Given the description of an element on the screen output the (x, y) to click on. 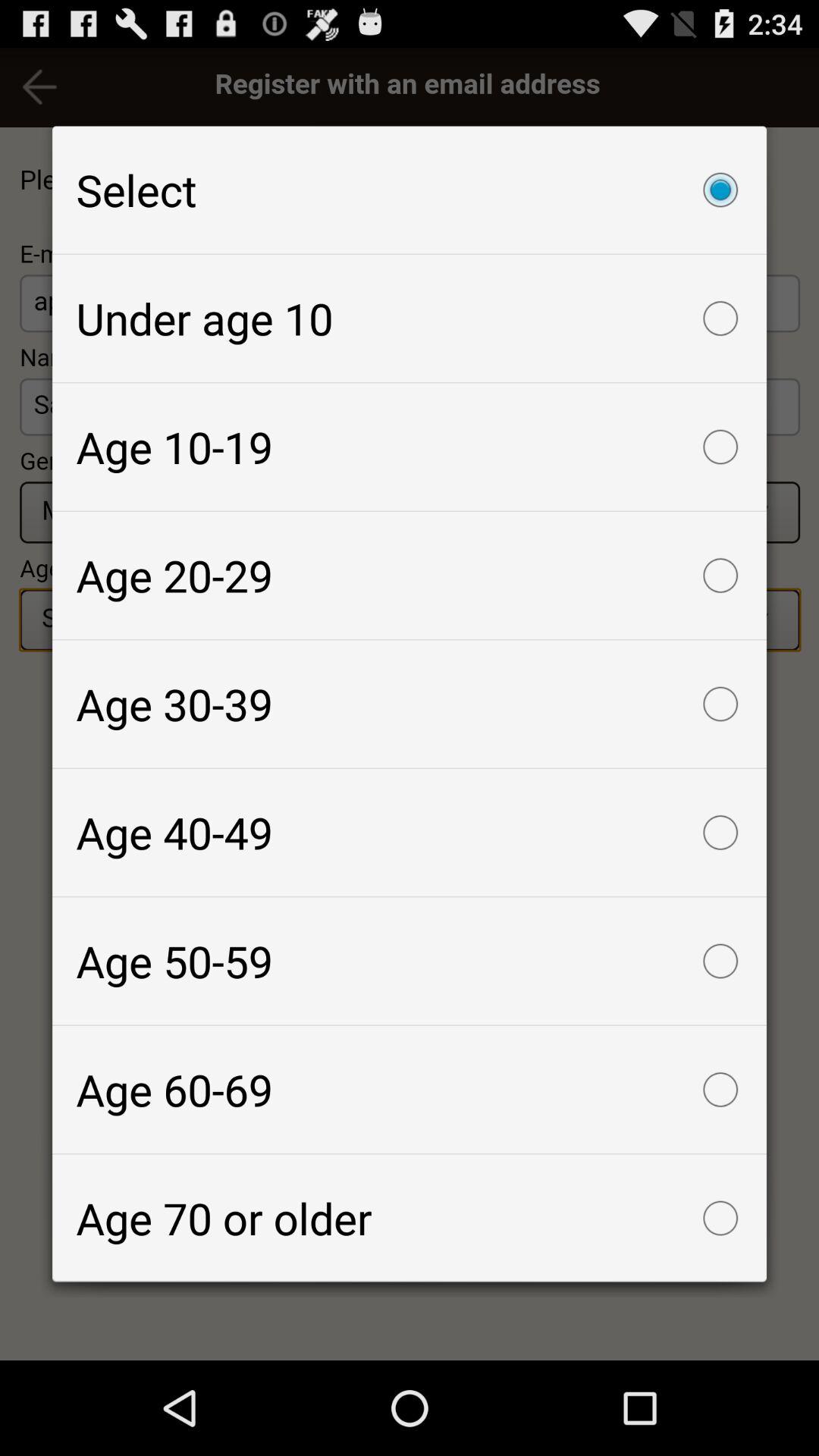
click the item below the age 30-39 icon (409, 832)
